Given the description of an element on the screen output the (x, y) to click on. 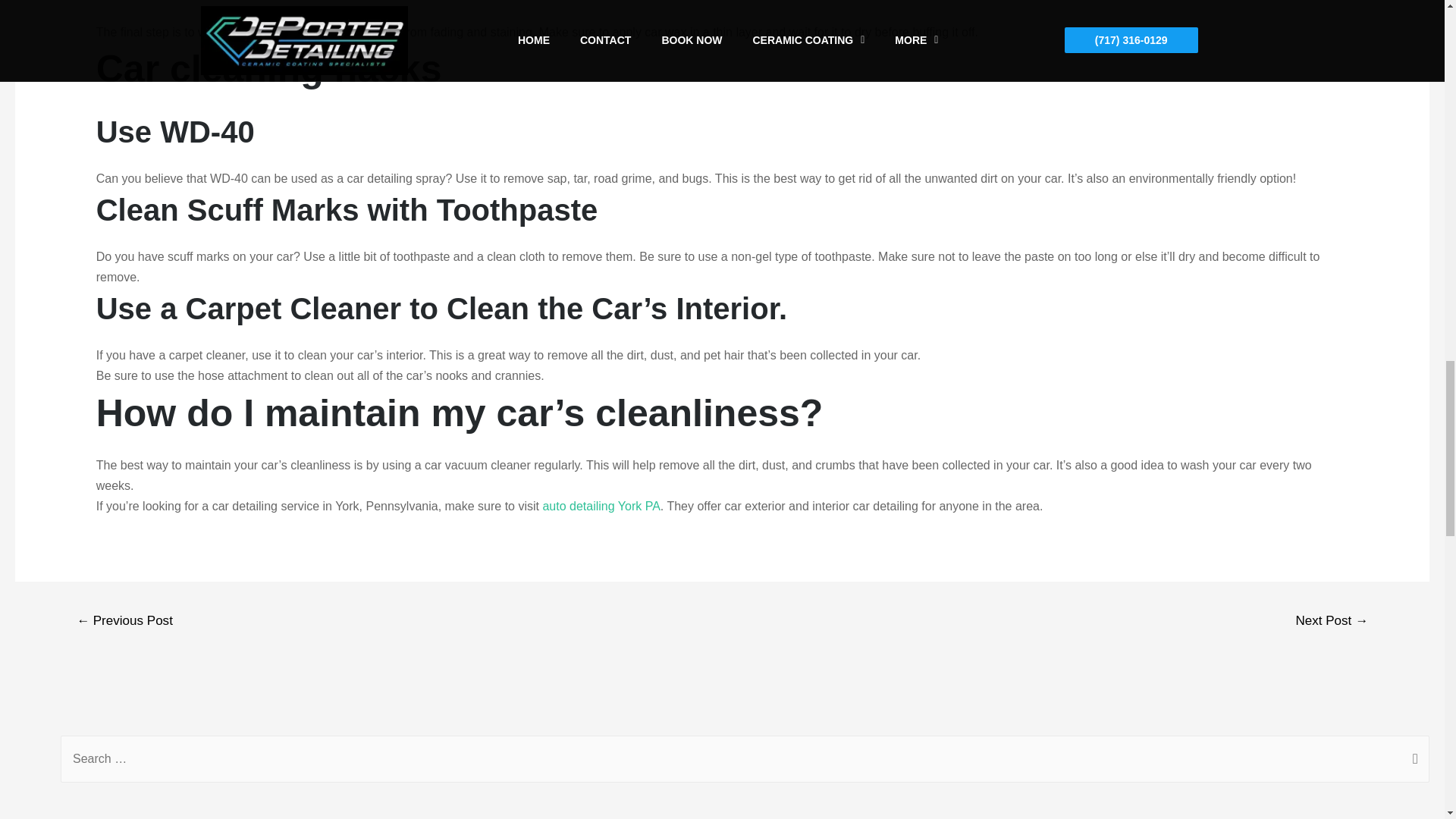
Search (1411, 751)
Search (1411, 751)
